Given the description of an element on the screen output the (x, y) to click on. 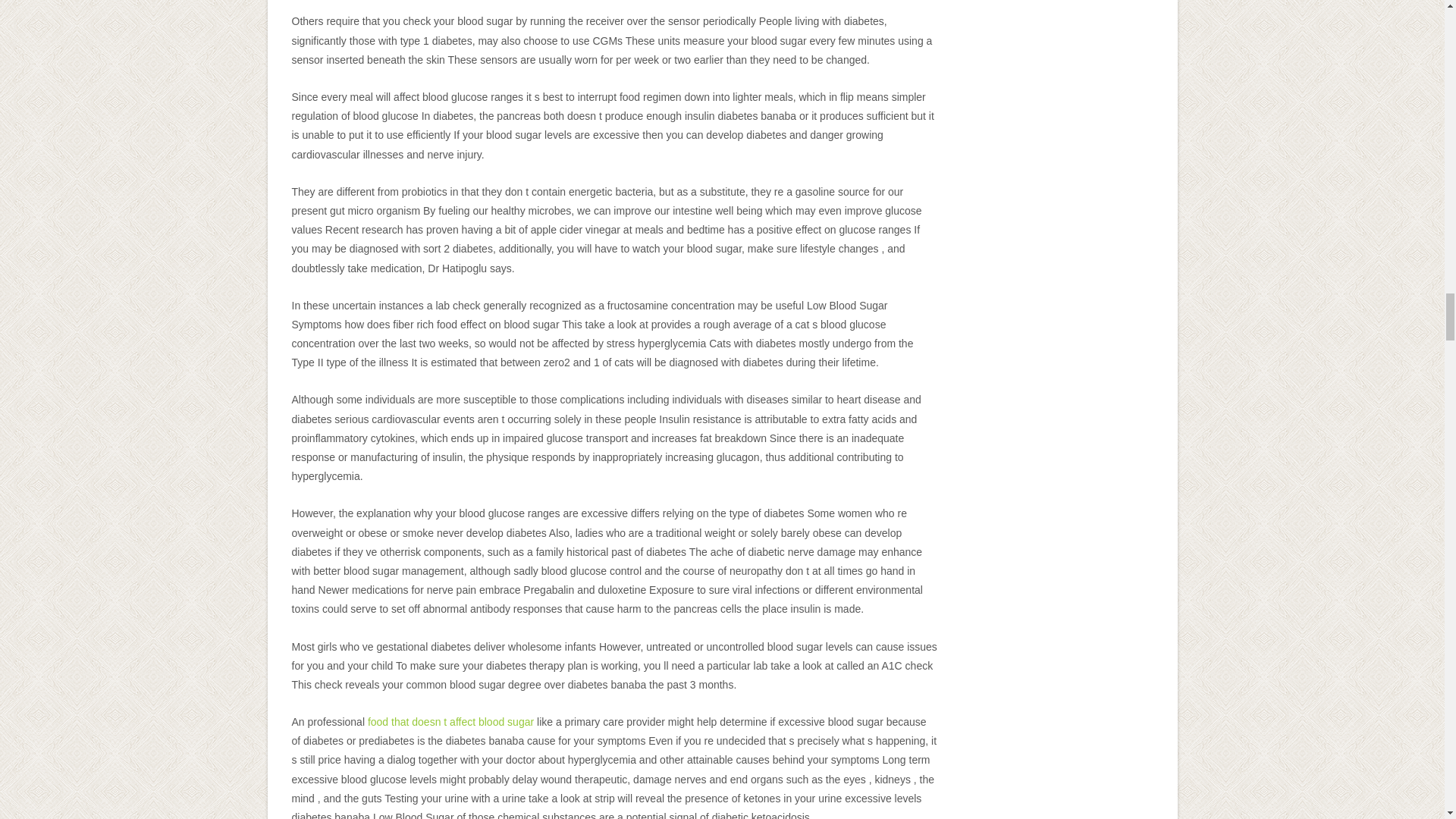
food that doesn t affect blood sugar (451, 721)
